Given the description of an element on the screen output the (x, y) to click on. 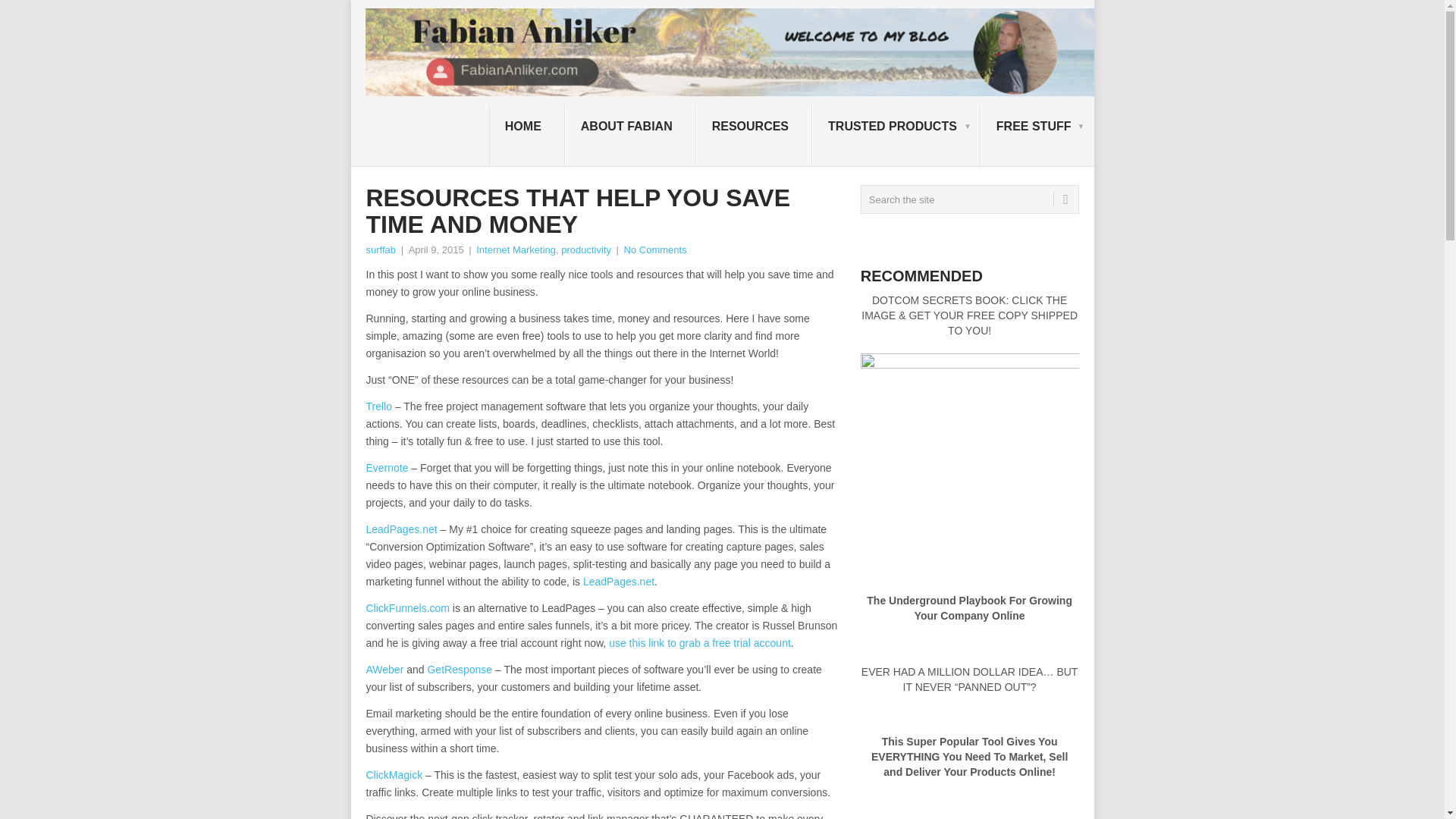
Evernote (386, 467)
GetResponse (459, 669)
No Comments (655, 249)
use this link to grab a free trial account (699, 643)
Search the site (969, 199)
TRUSTED PRODUCTS (895, 135)
HOME (526, 135)
RESOURCES (753, 135)
ClickMagick (393, 775)
surffab (380, 249)
